Given the description of an element on the screen output the (x, y) to click on. 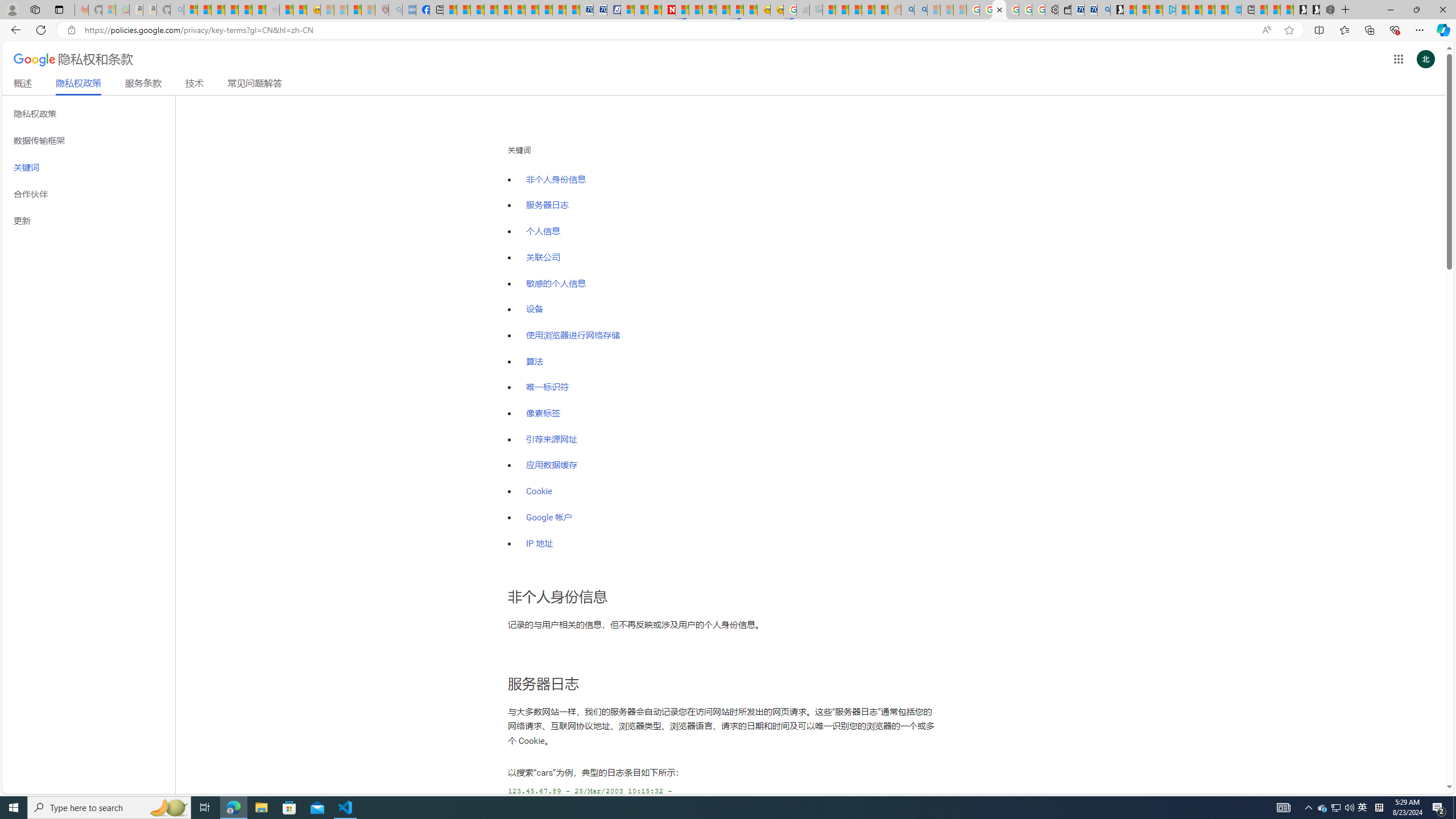
Climate Damage Becomes Too Severe To Reverse (490, 9)
Newsweek - News, Analysis, Politics, Business, Technology (667, 9)
